Given the description of an element on the screen output the (x, y) to click on. 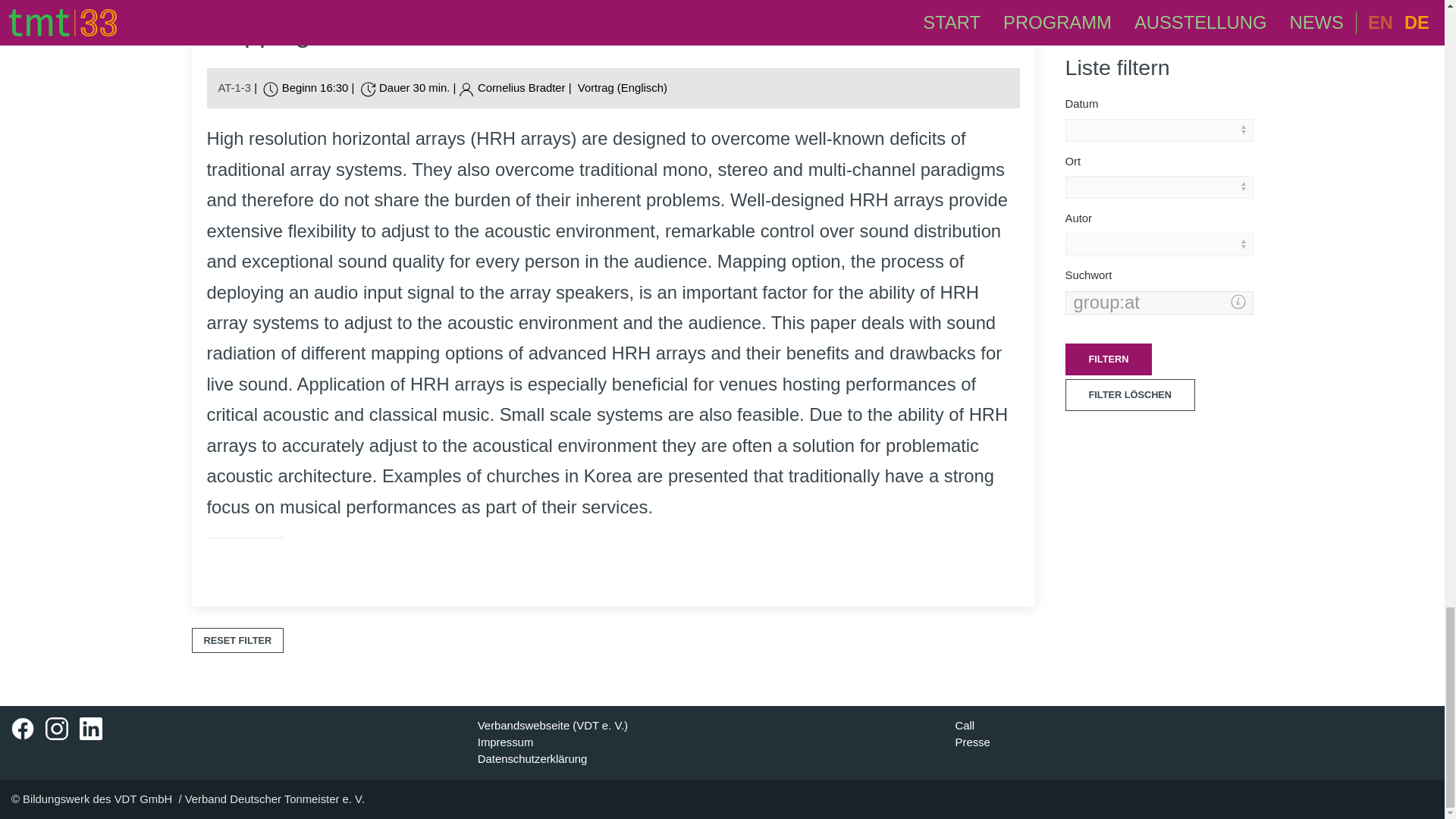
Visit us on LinkedIn (90, 728)
Visit us on Instagram (56, 728)
Visit us on Facebook (22, 728)
Autor (515, 87)
